Given the description of an element on the screen output the (x, y) to click on. 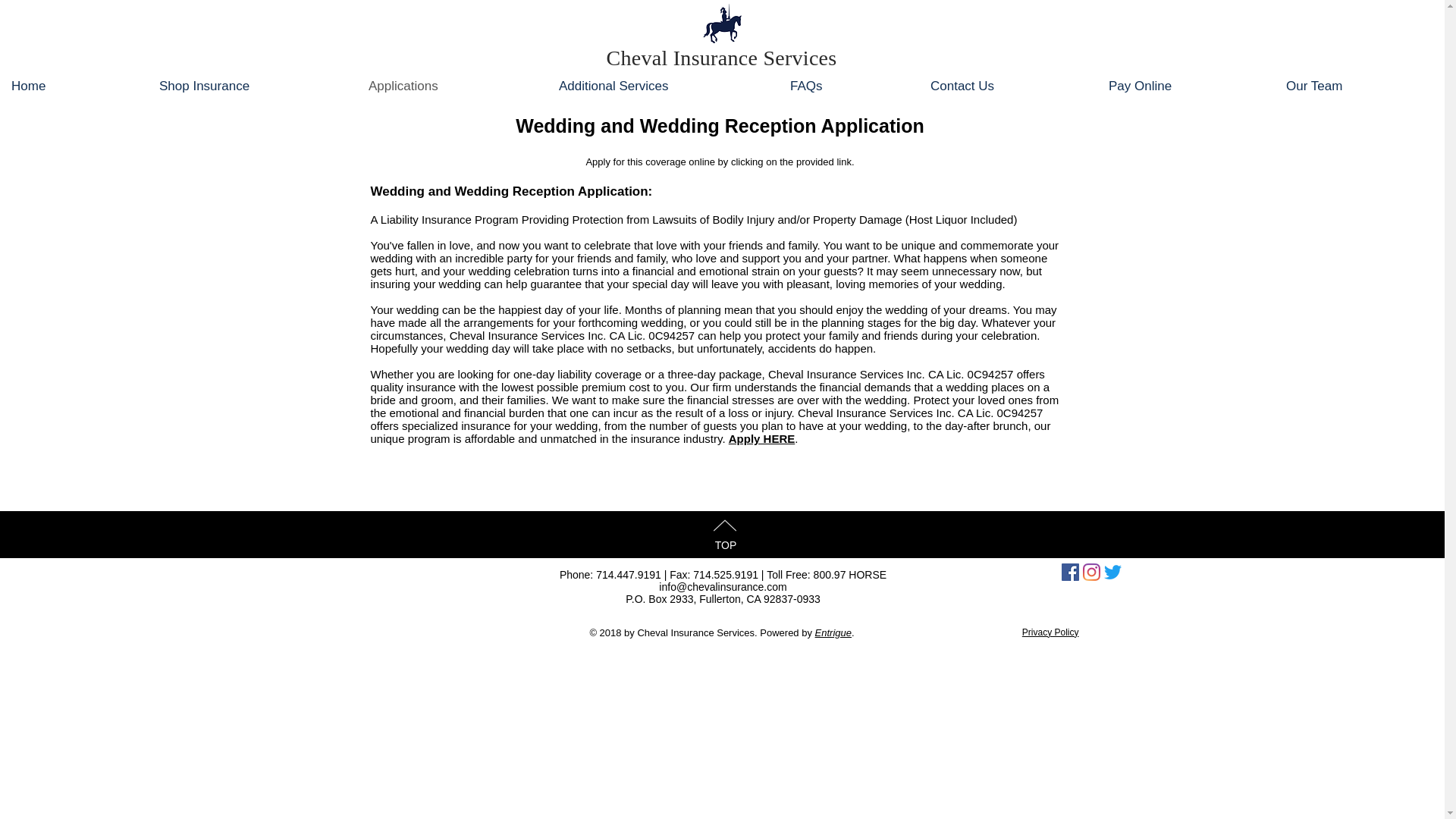
Entrigue (833, 632)
Home (74, 85)
FAQs (848, 85)
Applications (451, 85)
Additional Services (662, 85)
Apply HERE (761, 438)
Shop Insurance (252, 85)
Contact Us (1007, 85)
Services (798, 57)
Insurance (714, 57)
TOP (725, 544)
Pay Online (1186, 85)
Cheval (638, 57)
